Given the description of an element on the screen output the (x, y) to click on. 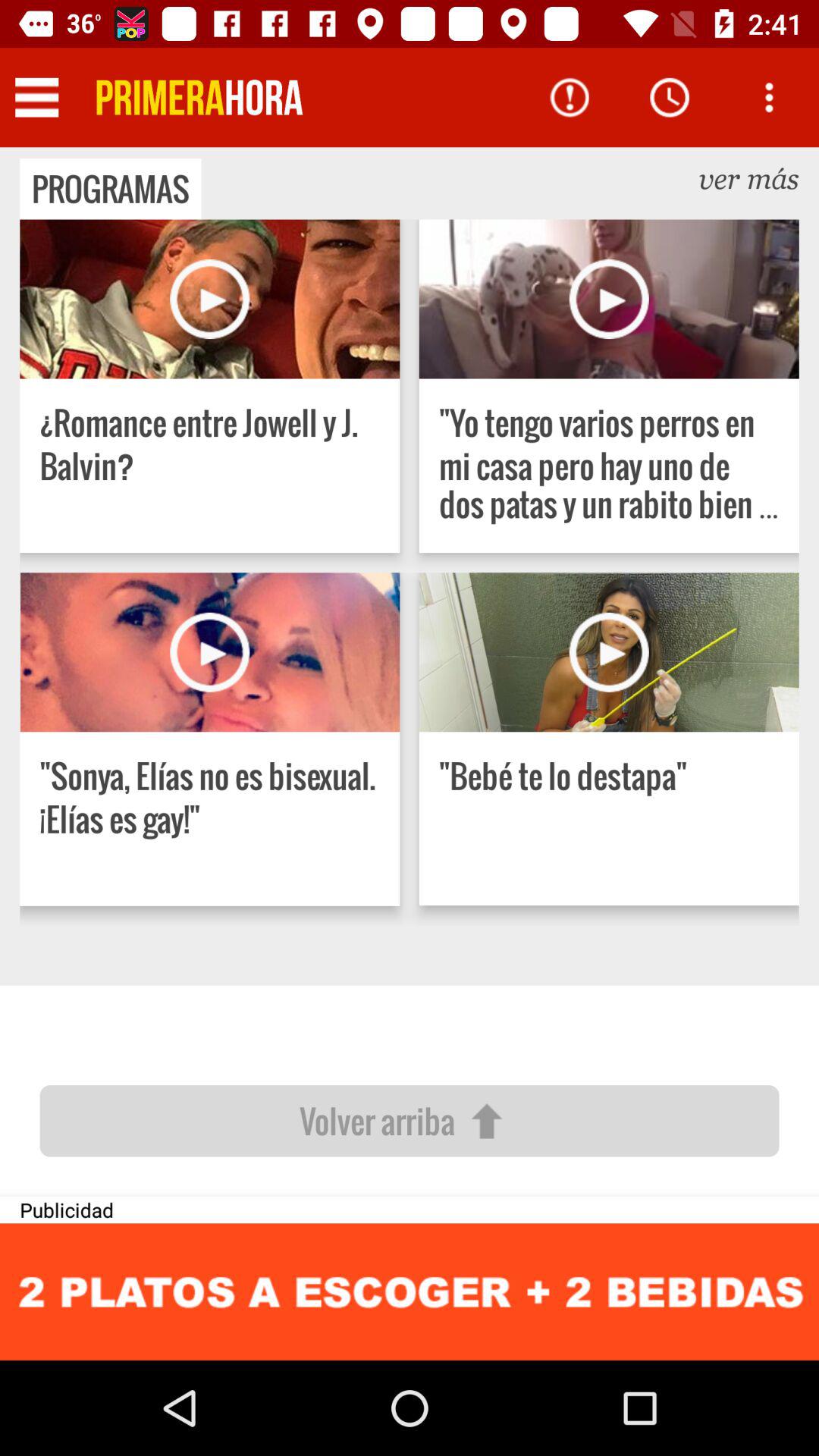
menu (36, 97)
